Given the description of an element on the screen output the (x, y) to click on. 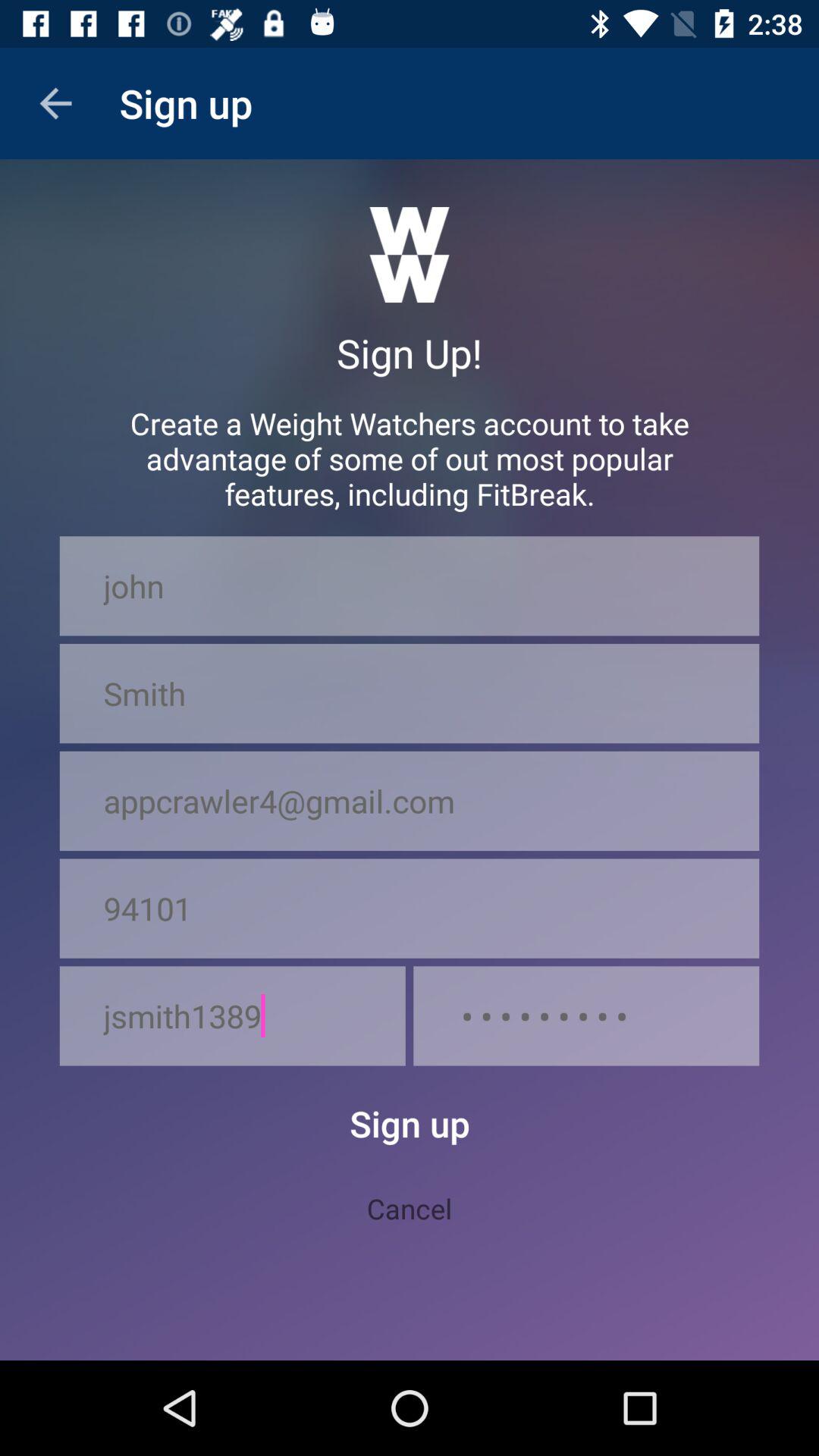
jump until the jsmith1389 icon (232, 1015)
